Given the description of an element on the screen output the (x, y) to click on. 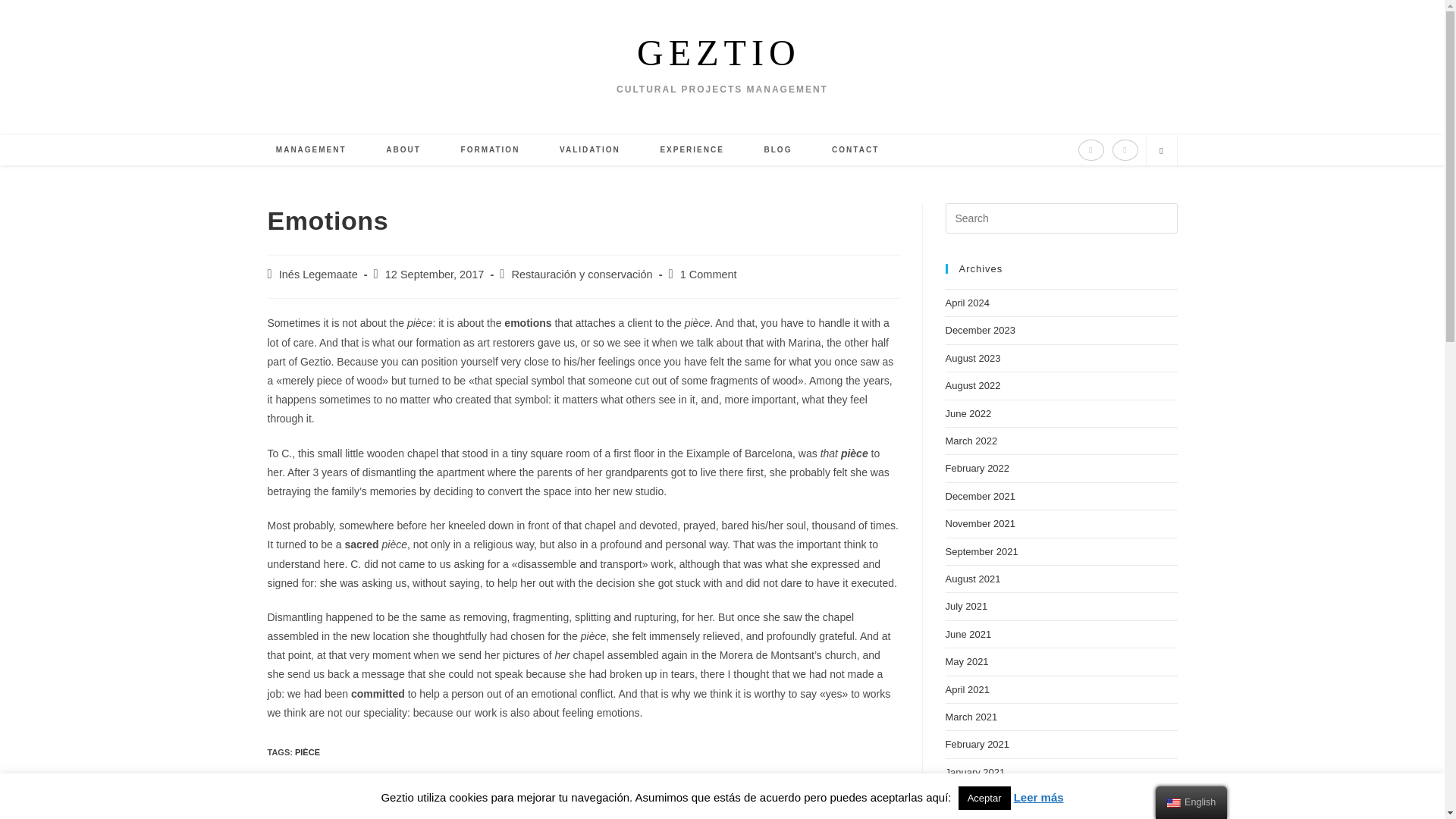
EXPERIENCE (692, 150)
August 2022 (972, 385)
April 2024 (967, 302)
CONTACT (855, 150)
August 2023 (972, 357)
English (1173, 802)
FORMATION (490, 150)
BLOG (778, 150)
ABOUT (403, 150)
VALIDATION (590, 150)
1 Comment (707, 274)
MANAGEMENT (311, 150)
December 2023 (979, 329)
